Given the description of an element on the screen output the (x, y) to click on. 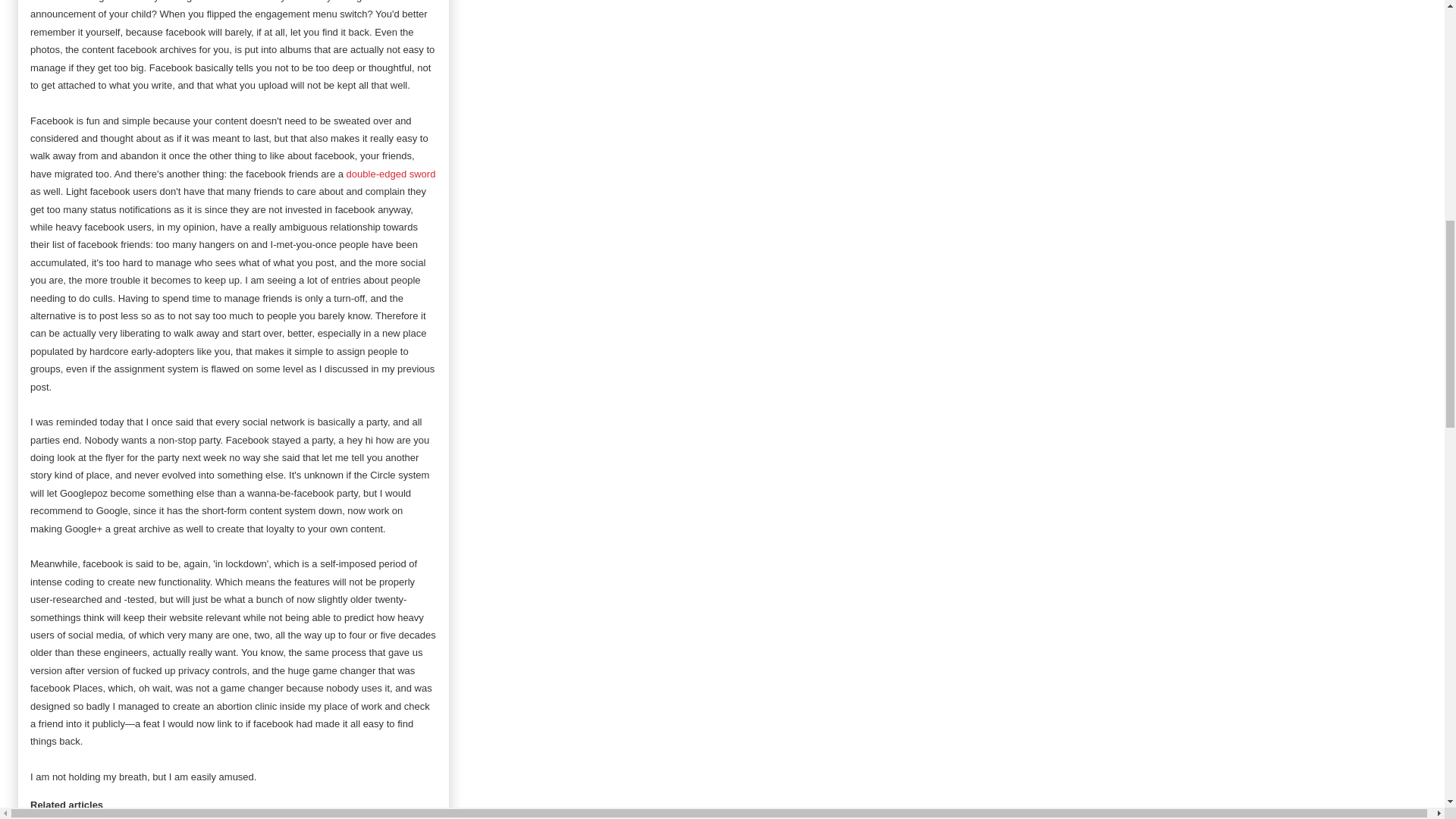
double-edged sword (390, 173)
Sword (390, 173)
